Given the description of an element on the screen output the (x, y) to click on. 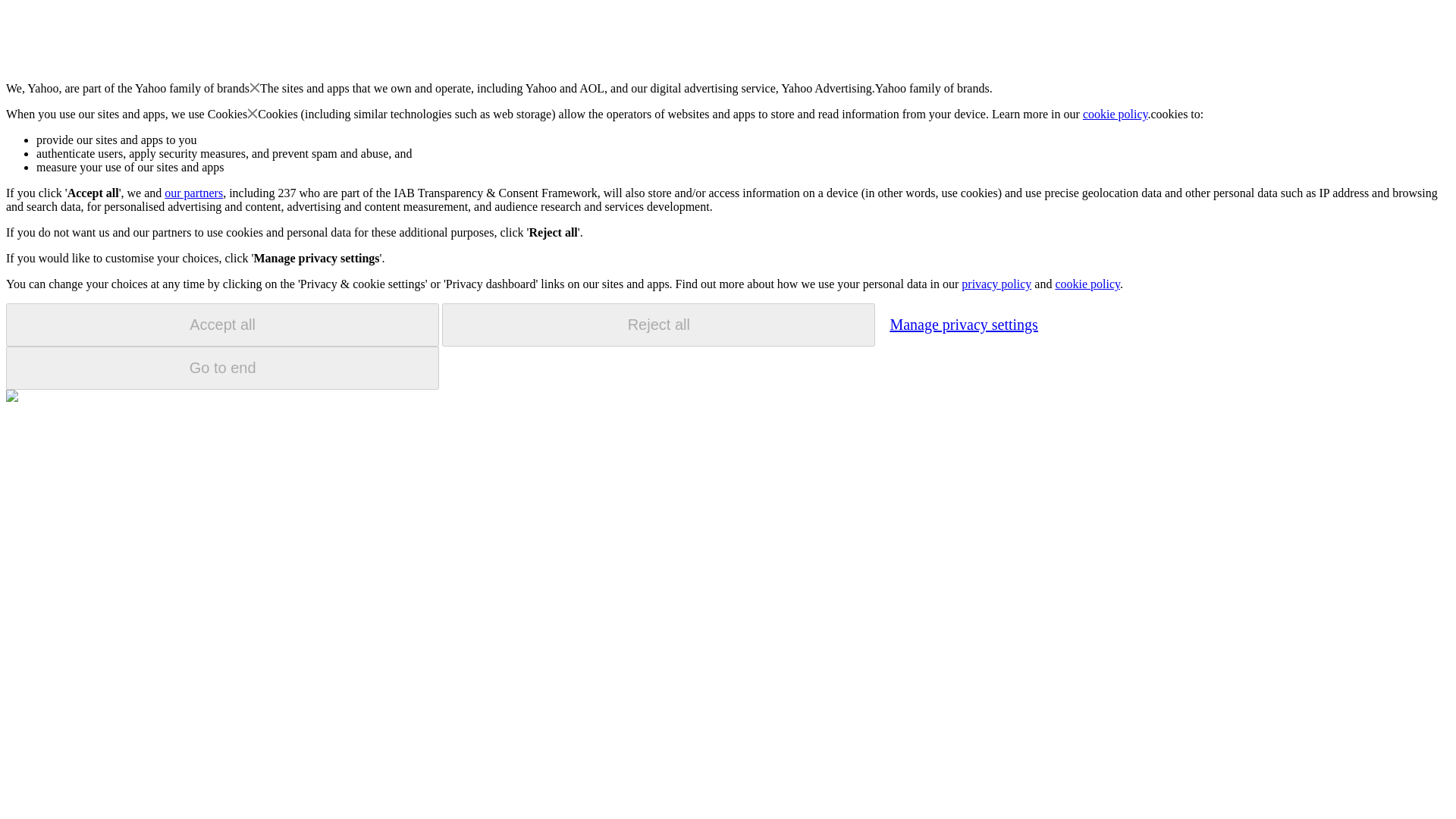
cookie policy (1115, 113)
cookie policy (1086, 283)
Go to end (222, 367)
Reject all (658, 324)
Accept all (222, 324)
our partners (193, 192)
Manage privacy settings (963, 323)
privacy policy (995, 283)
